Given the description of an element on the screen output the (x, y) to click on. 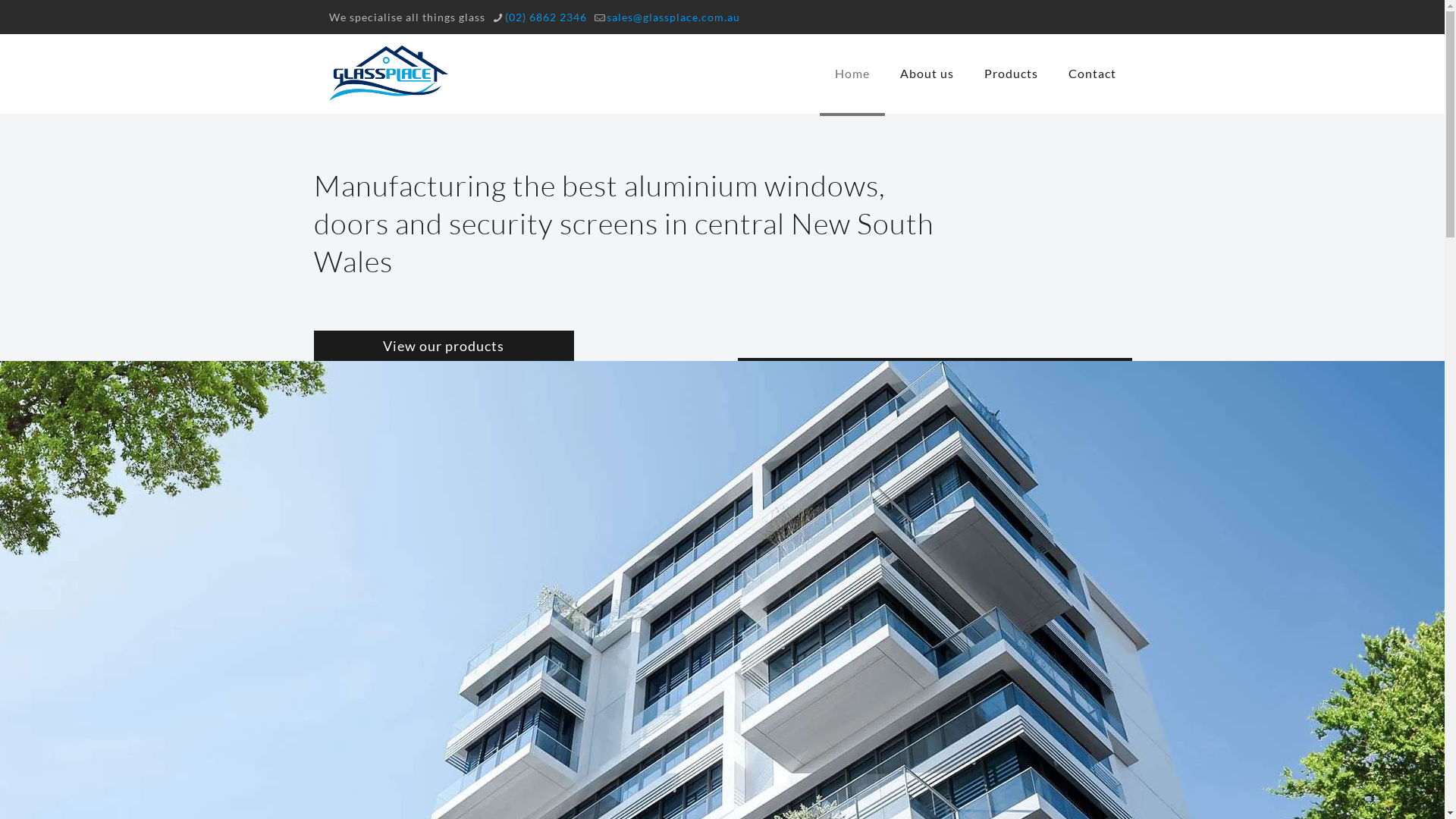
Home Element type: text (851, 73)
About us Element type: text (926, 73)
Contact Element type: text (1091, 73)
Products Element type: text (1011, 73)
View our products Element type: text (443, 345)
(02) 6862 2346 Element type: text (545, 16)
sales@glassplace.com.au Element type: text (673, 16)
Glass Place Element type: hover (388, 73)
